Given the description of an element on the screen output the (x, y) to click on. 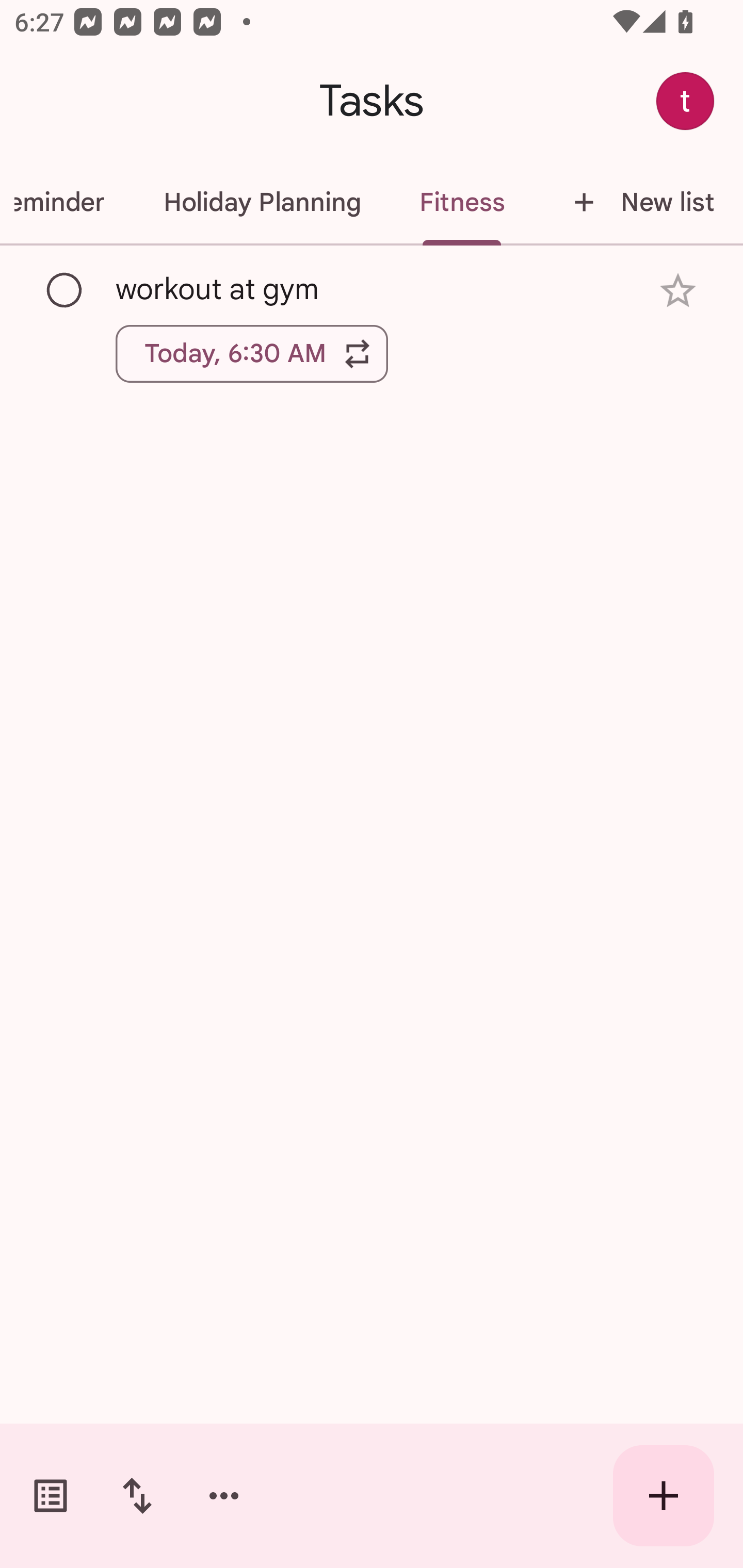
Reminder (67, 202)
Holiday Planning (262, 202)
New list (638, 202)
Add star (677, 290)
Mark as complete (64, 290)
Today, 6:30 AM (251, 353)
Switch task lists (50, 1495)
Create new task (663, 1495)
Change sort order (136, 1495)
More options (223, 1495)
